Given the description of an element on the screen output the (x, y) to click on. 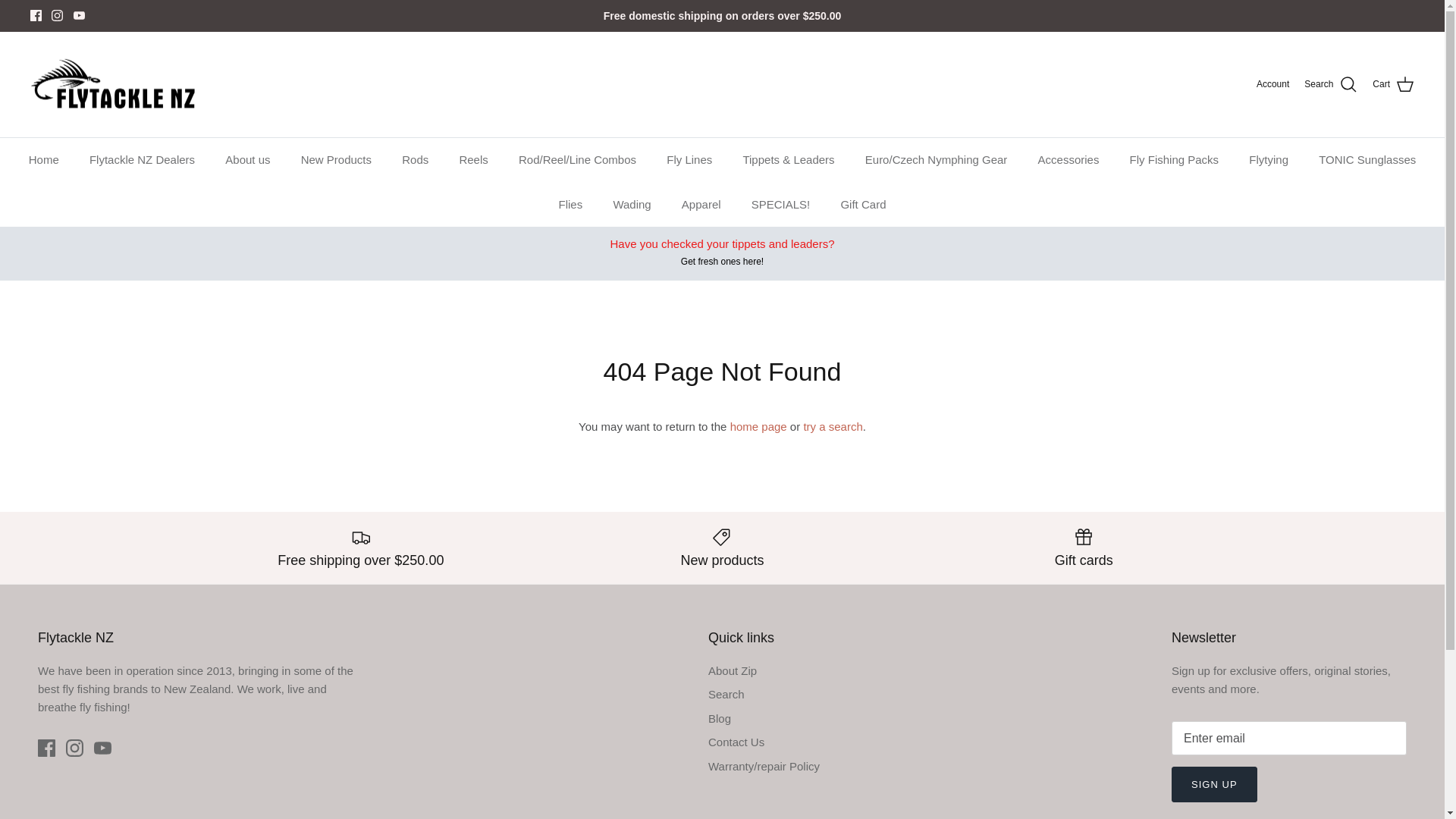
Facebook (36, 15)
Facebook (46, 747)
Search (1330, 85)
Cart (1393, 85)
Instagram (73, 747)
Youtube (79, 15)
Flytackle NZ (113, 84)
Flytackle NZ Dealers (141, 160)
Account (1272, 83)
Youtube (103, 747)
